Given the description of an element on the screen output the (x, y) to click on. 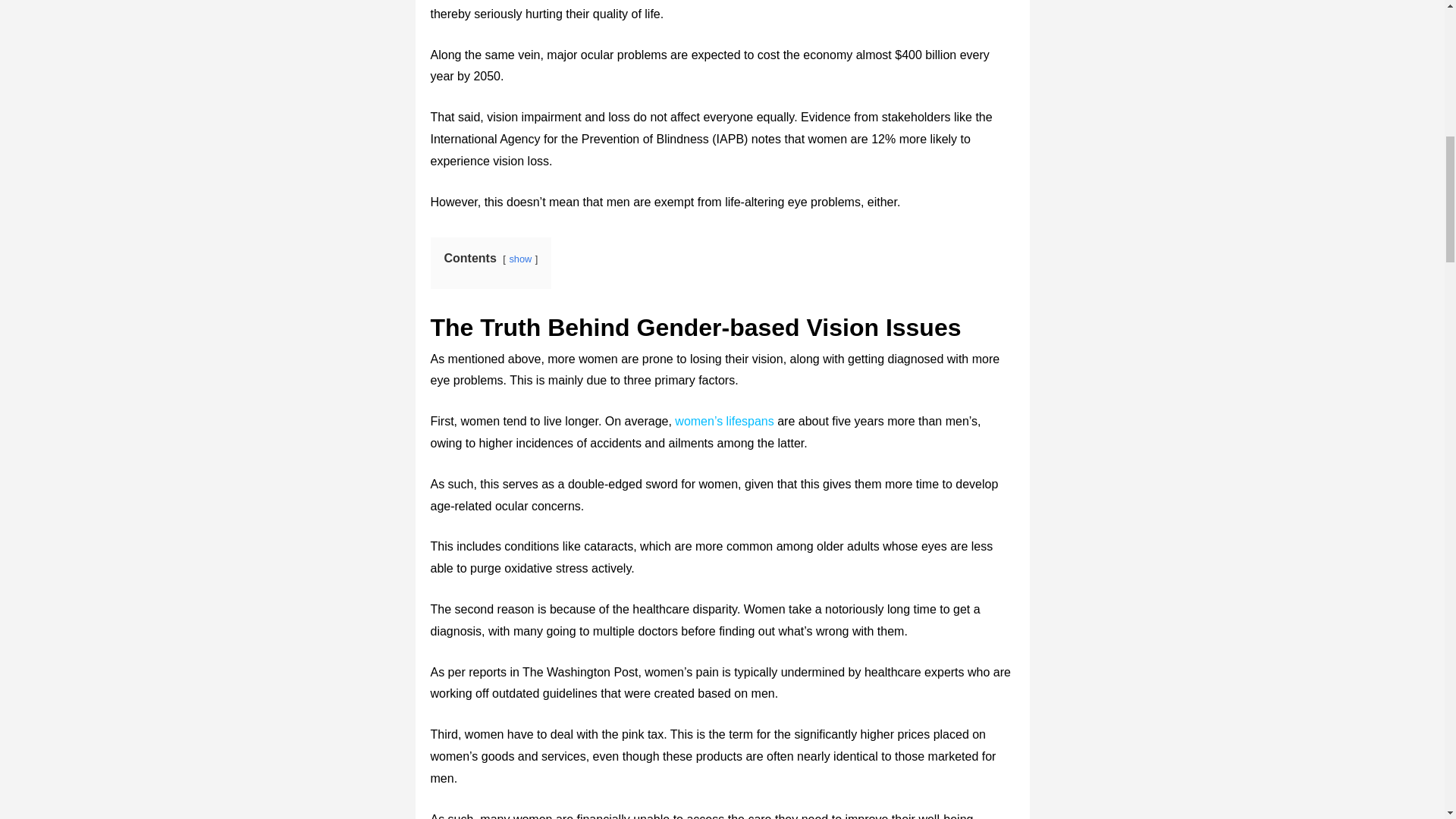
show (519, 258)
